Given the description of an element on the screen output the (x, y) to click on. 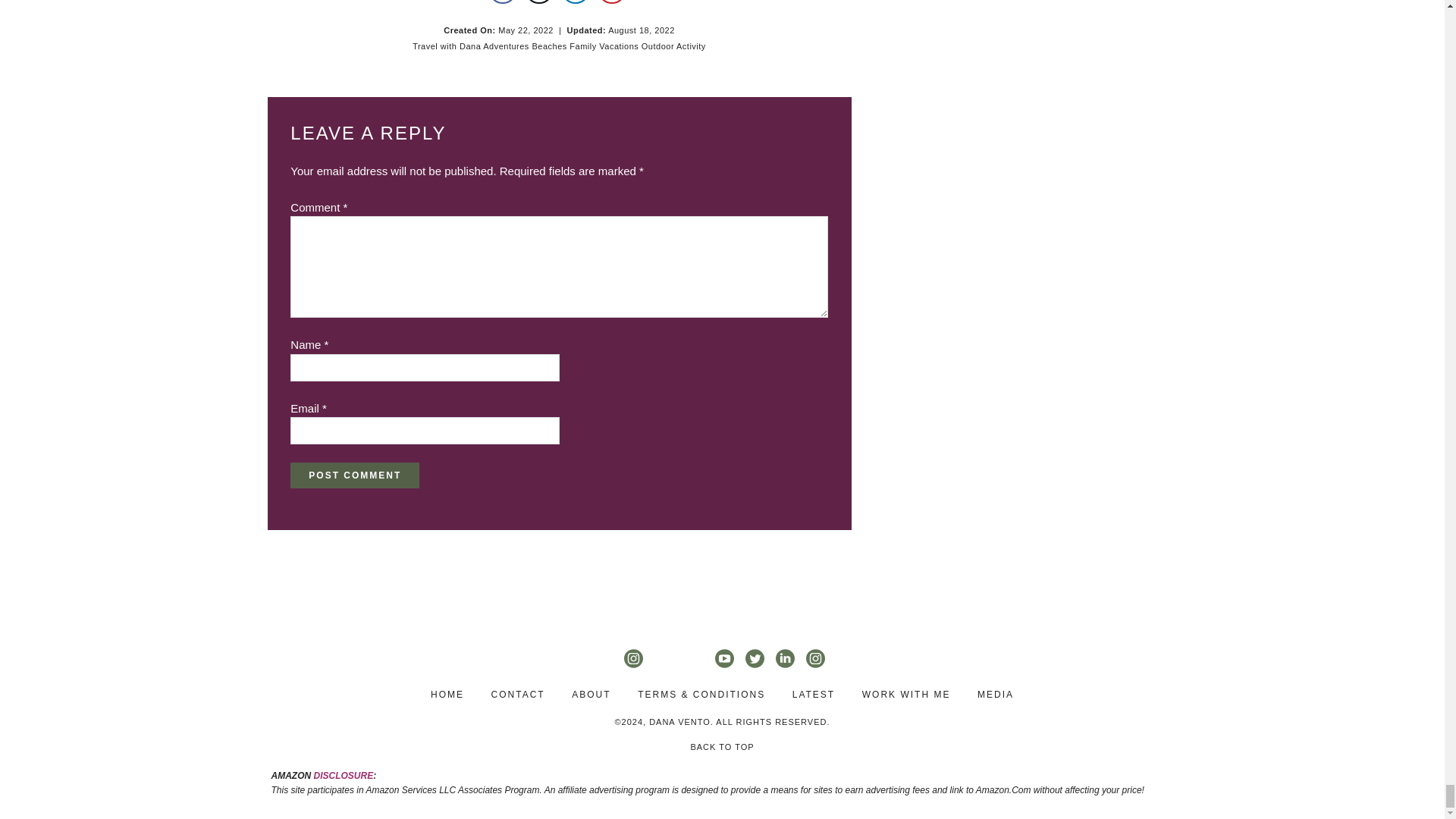
Post Comment (354, 475)
